Given the description of an element on the screen output the (x, y) to click on. 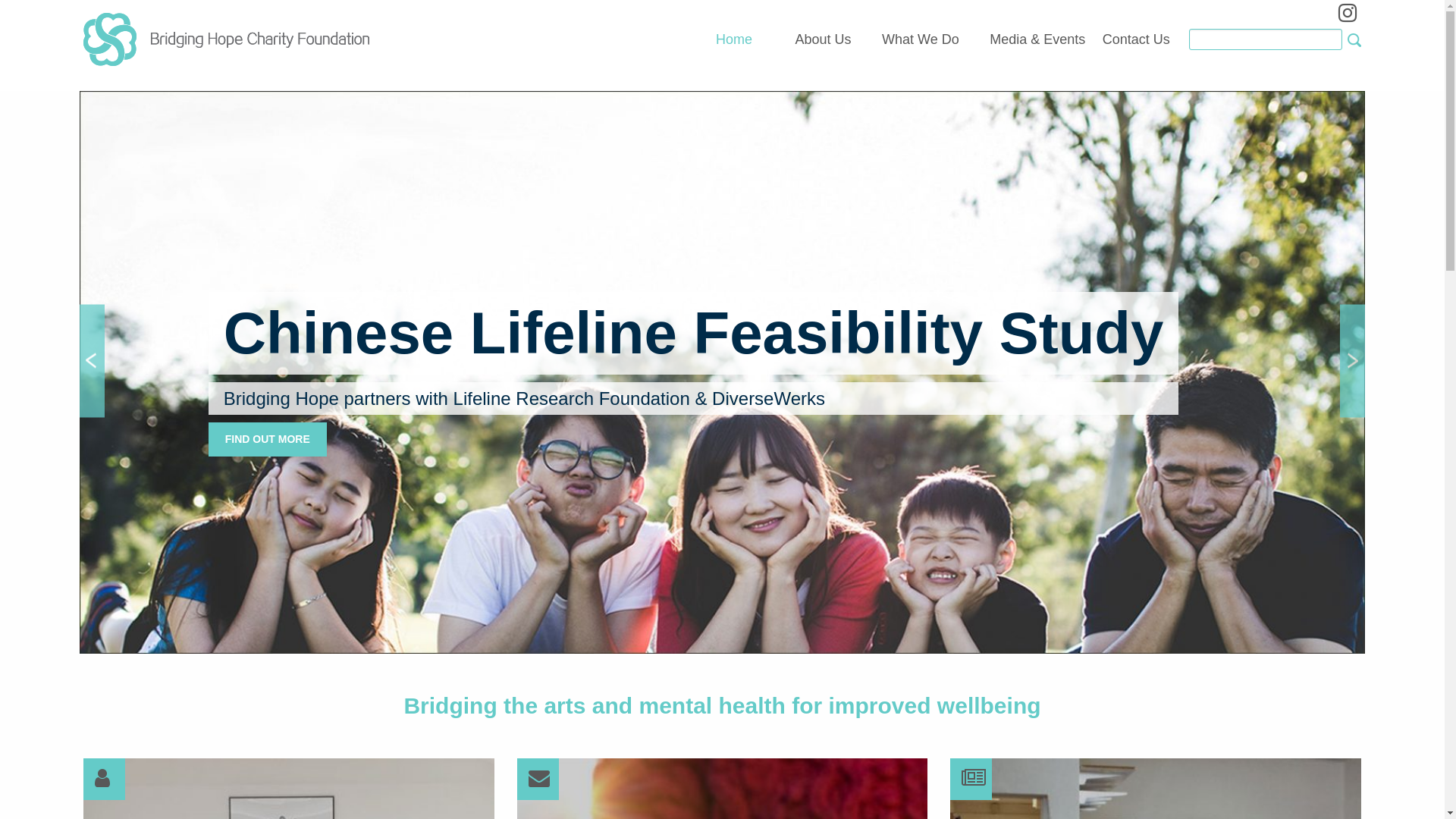
FIND OUT MORE Element type: text (856, 439)
Next Element type: text (1352, 360)
Search for: Element type: hover (1265, 39)
Previous Element type: text (91, 360)
Contact Us Element type: text (1136, 39)
What We Do Element type: text (920, 39)
Media & Events Element type: text (1037, 39)
Home Element type: text (739, 39)
About Us Element type: text (823, 39)
